Given the description of an element on the screen output the (x, y) to click on. 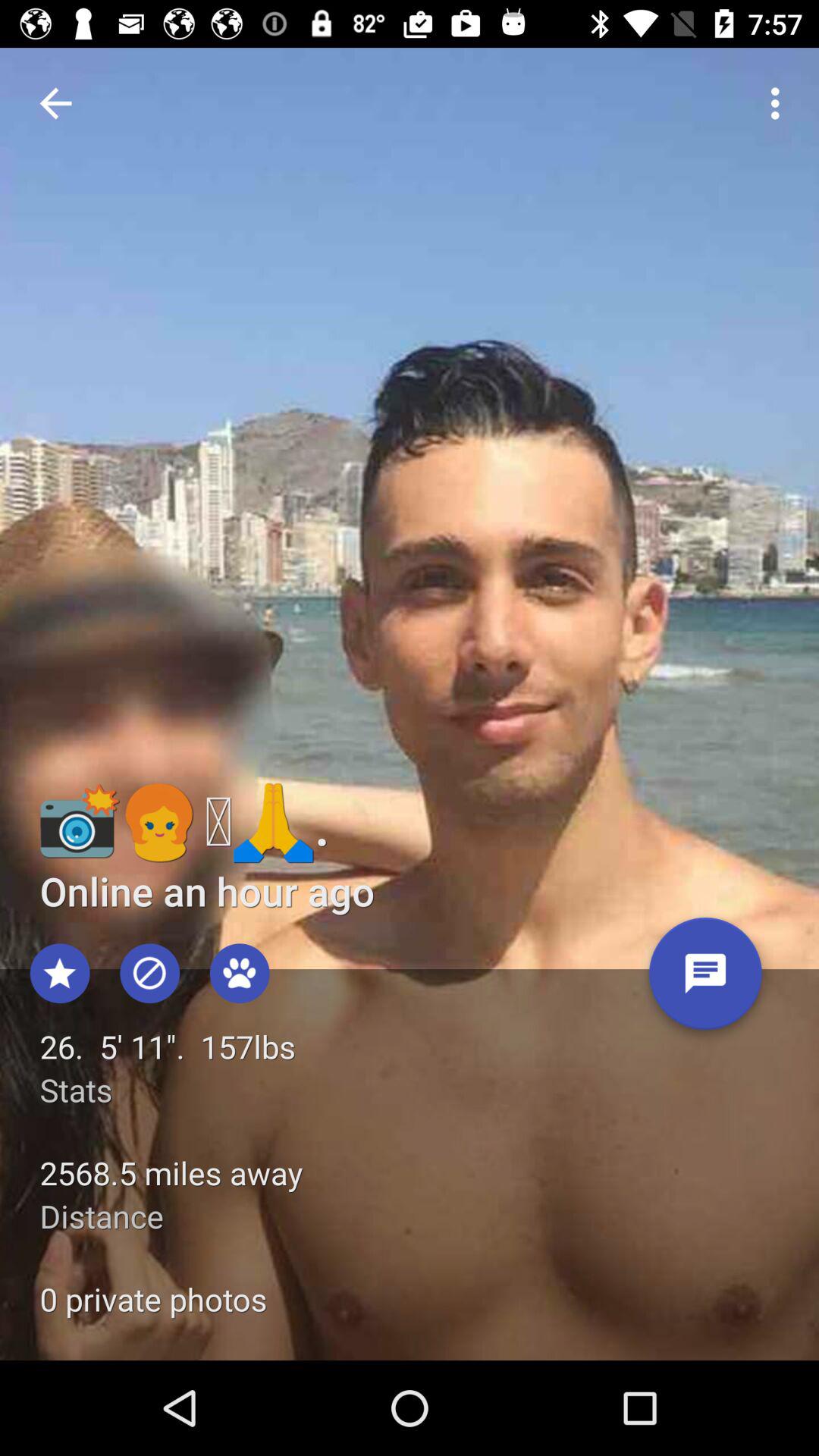
message icon (705, 979)
